Given the description of an element on the screen output the (x, y) to click on. 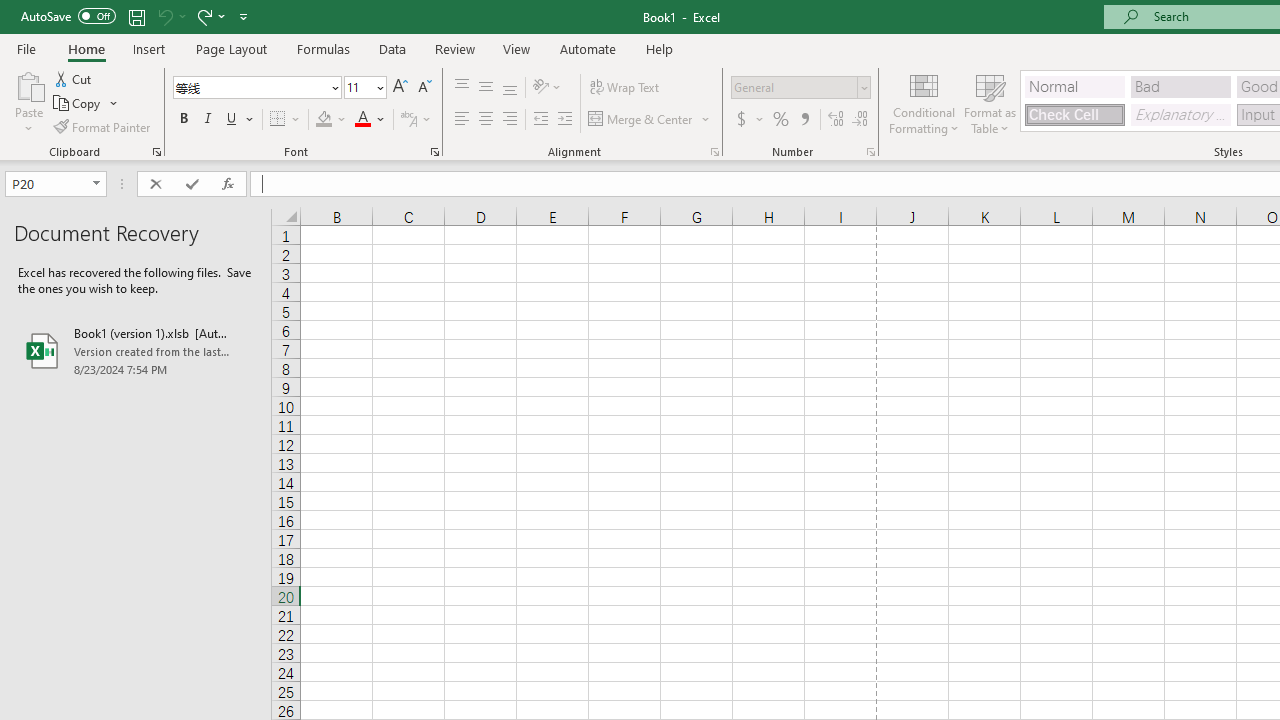
Review (454, 48)
Data (392, 48)
Help (660, 48)
Copy (85, 103)
Book1 (version 1).xlsb  [AutoRecovered] (136, 350)
Borders (285, 119)
Check Cell (1074, 114)
Automate (588, 48)
Cut (73, 78)
Accounting Number Format (741, 119)
Customize Quick Access Toolbar (244, 15)
